Given the description of an element on the screen output the (x, y) to click on. 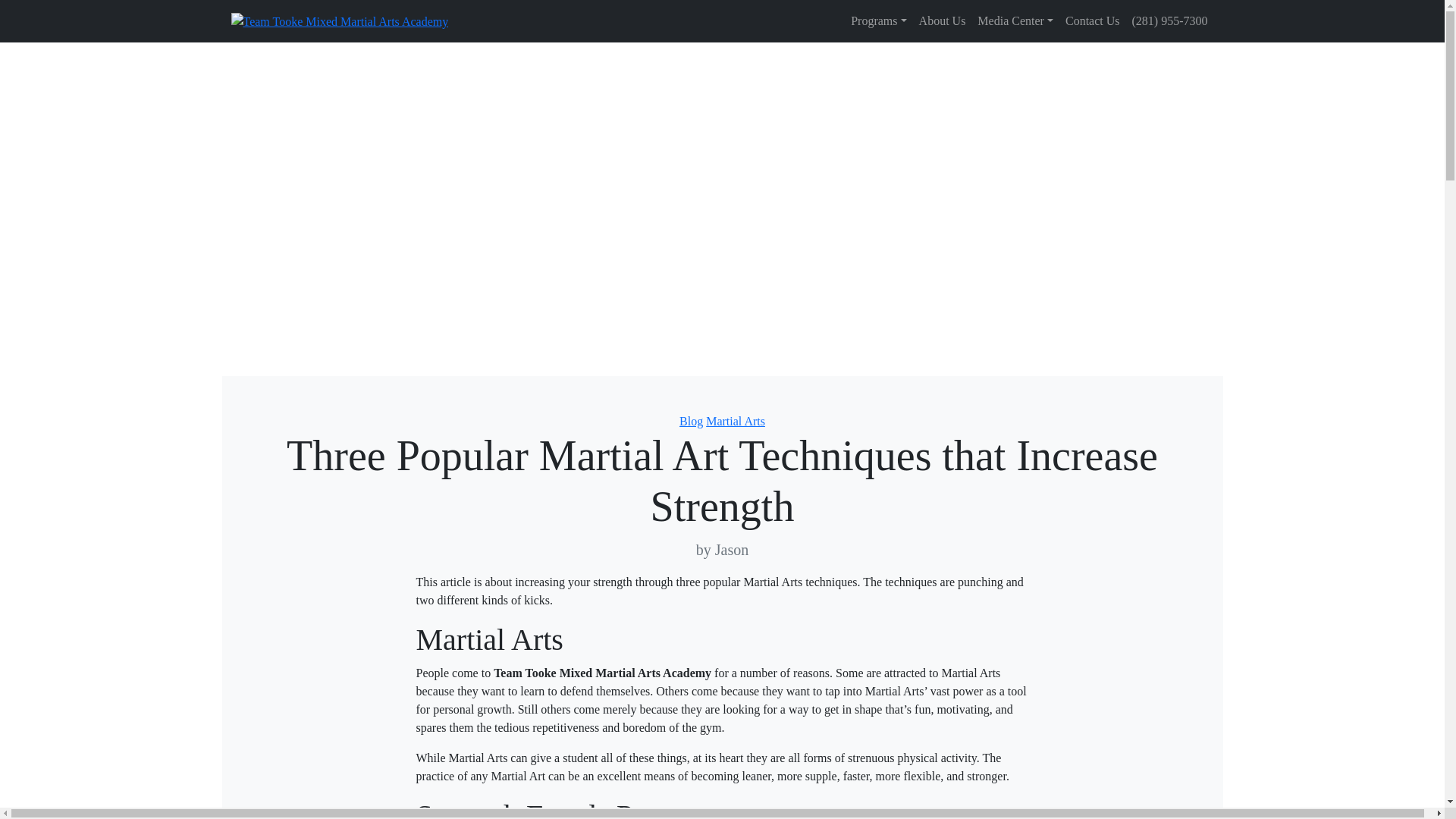
Blog (691, 420)
Martial Arts (735, 420)
Media Center (1015, 20)
Programs (878, 20)
Contact Us (1092, 20)
About Us (942, 20)
